Given the description of an element on the screen output the (x, y) to click on. 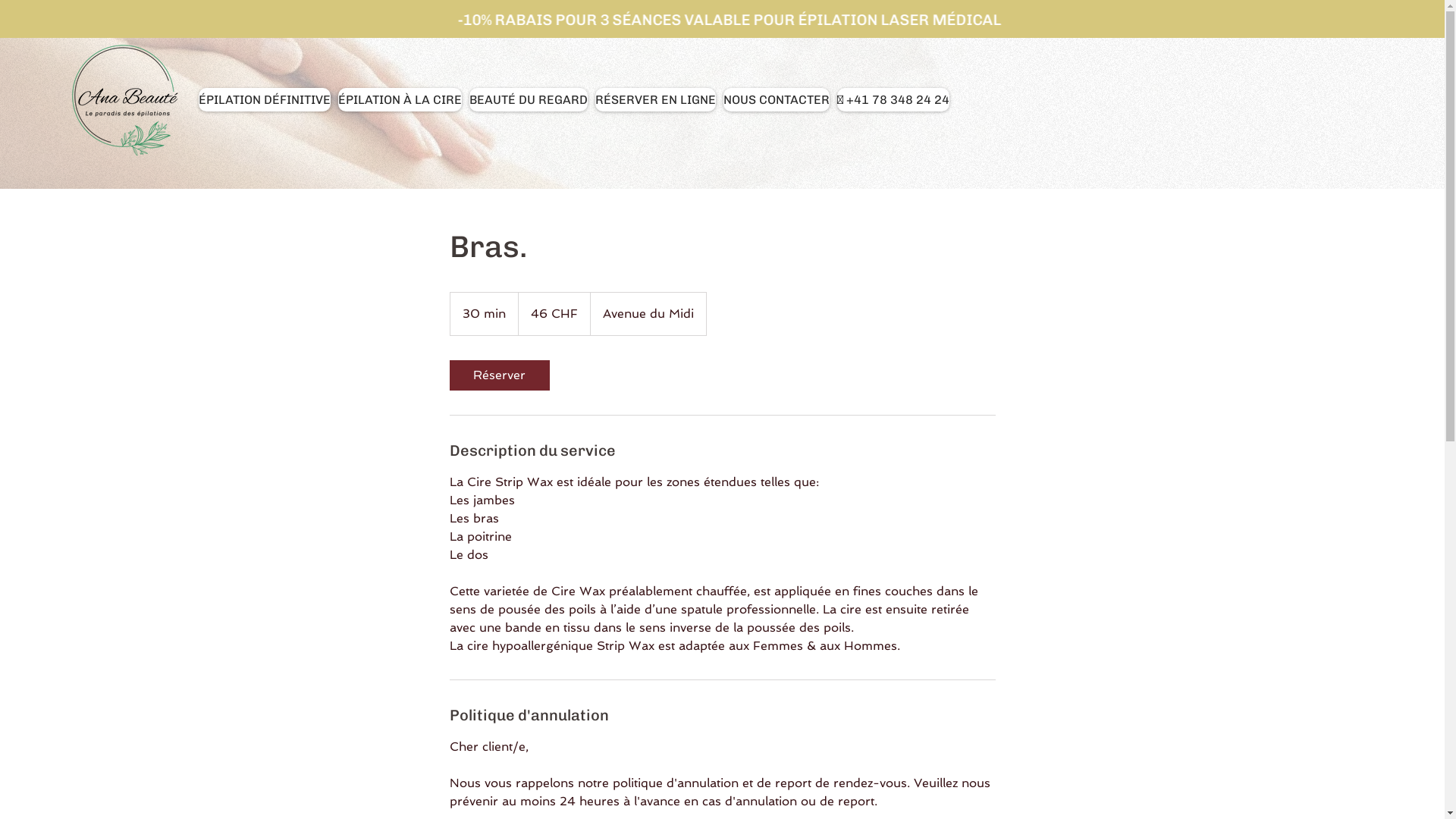
NOUS CONTACTER Element type: text (776, 99)
